Given the description of an element on the screen output the (x, y) to click on. 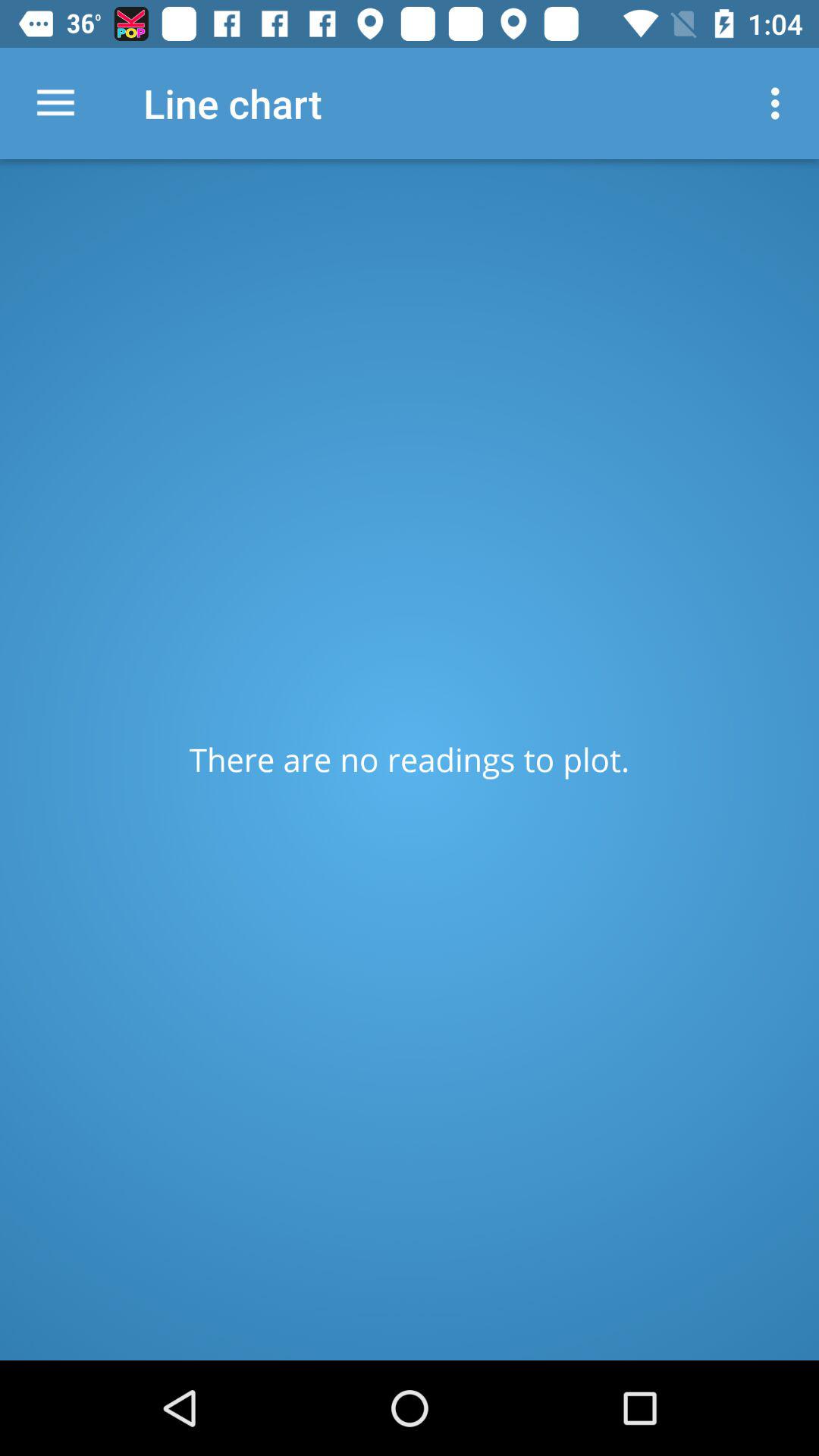
choose the item next to the line chart (779, 103)
